Given the description of an element on the screen output the (x, y) to click on. 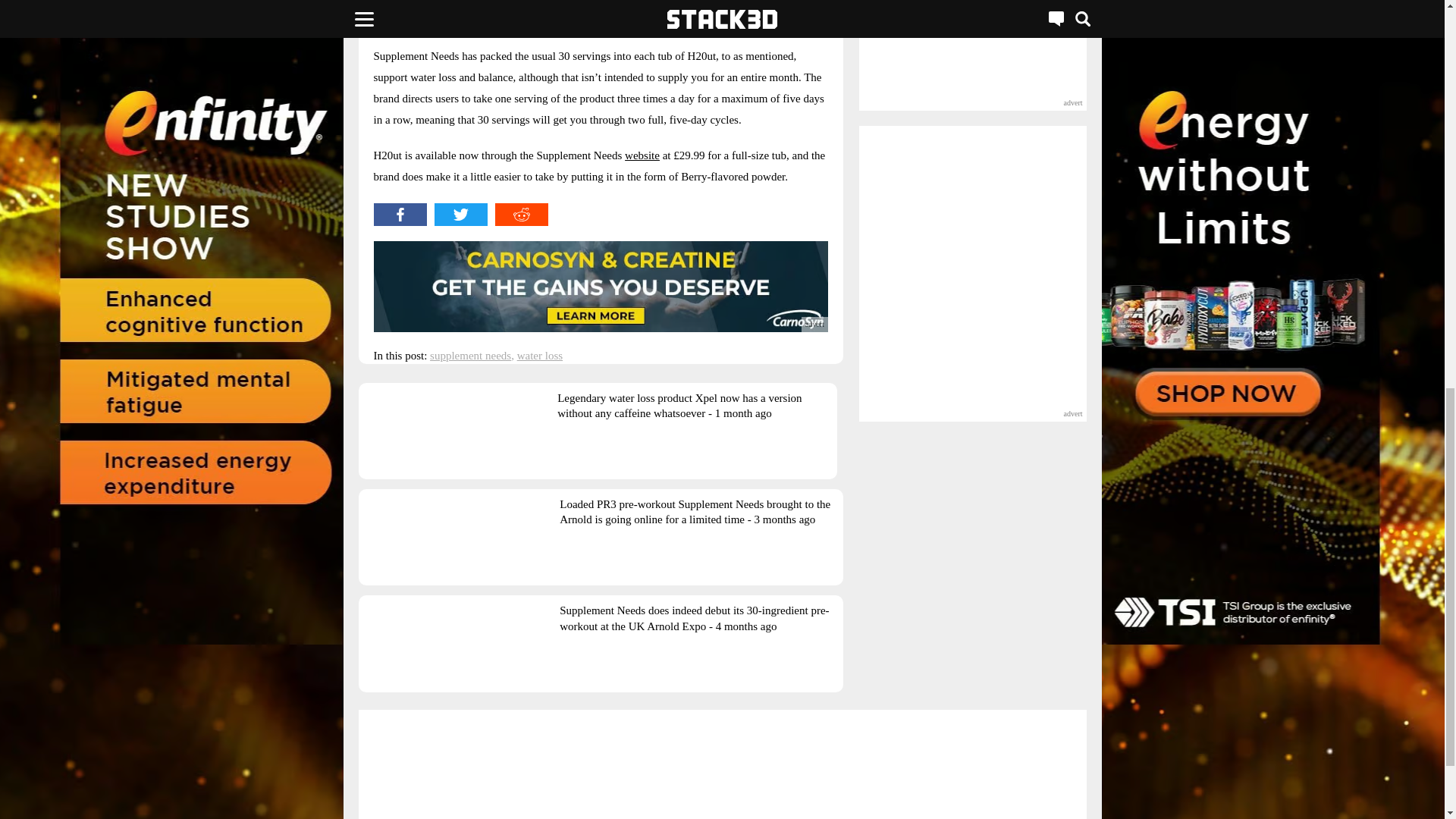
supplement needs (470, 355)
water loss (539, 355)
website (641, 155)
